Given the description of an element on the screen output the (x, y) to click on. 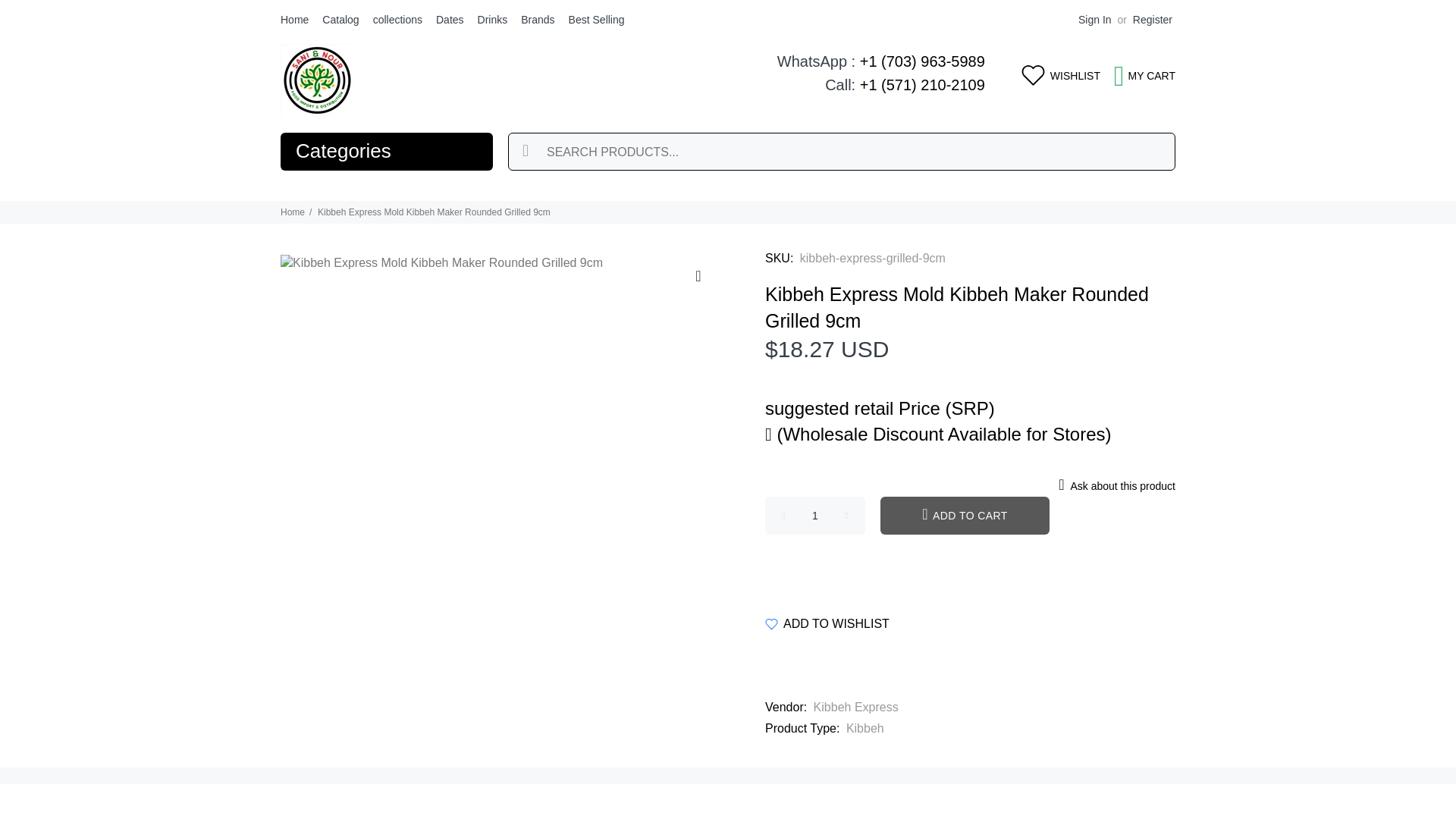
1 (814, 515)
